Given the description of an element on the screen output the (x, y) to click on. 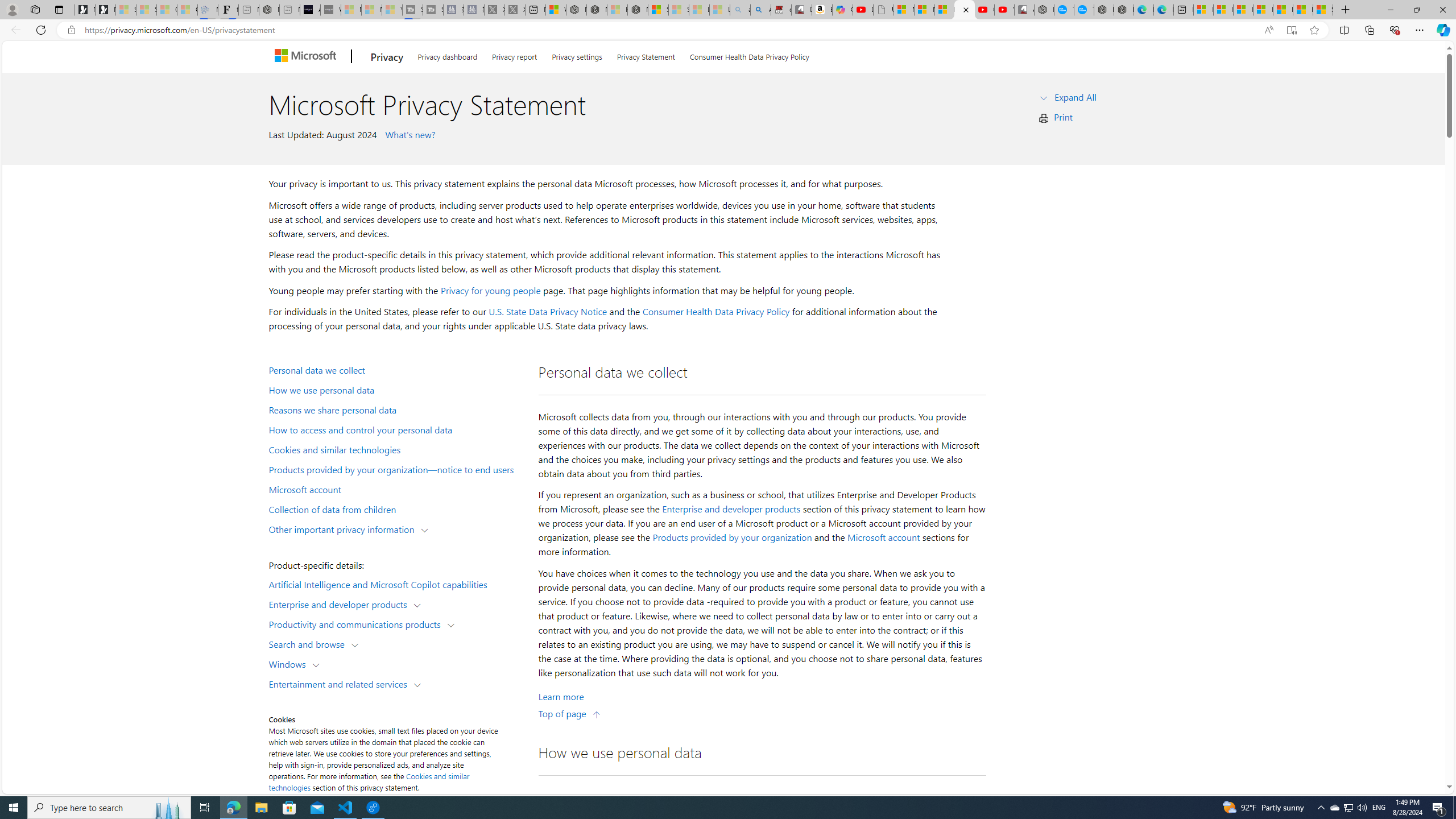
 What's new? (408, 133)
Microsoft account (883, 537)
Microsoft account (395, 488)
AI Voice Changer for PC and Mac - Voice.ai (309, 9)
Copilot (842, 9)
Consumer Health Data Privacy Policy (748, 54)
